Given the description of an element on the screen output the (x, y) to click on. 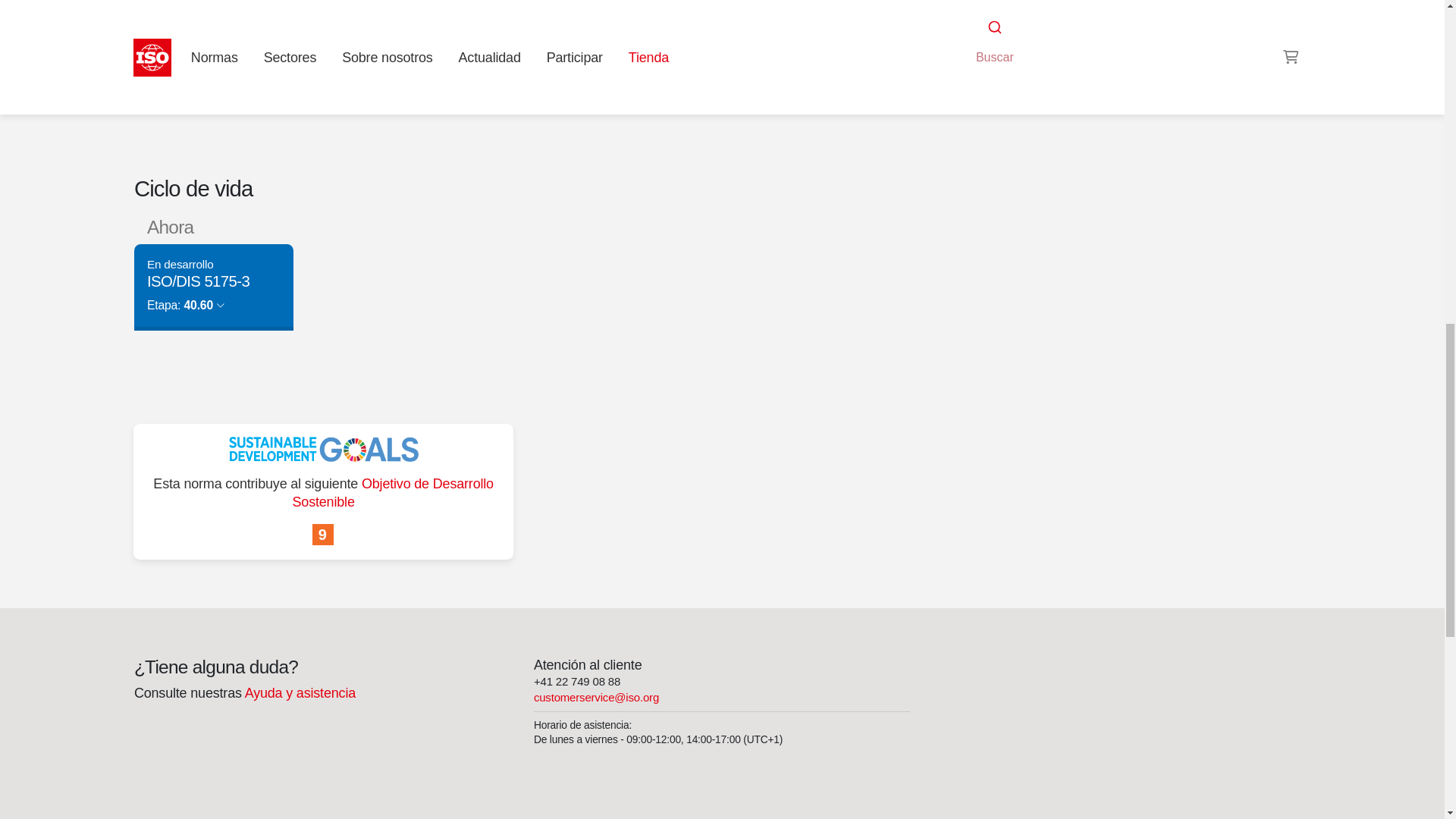
Welding equipment (997, 22)
Equipment for gas welding, cutting and allied processes (1086, 5)
